Given the description of an element on the screen output the (x, y) to click on. 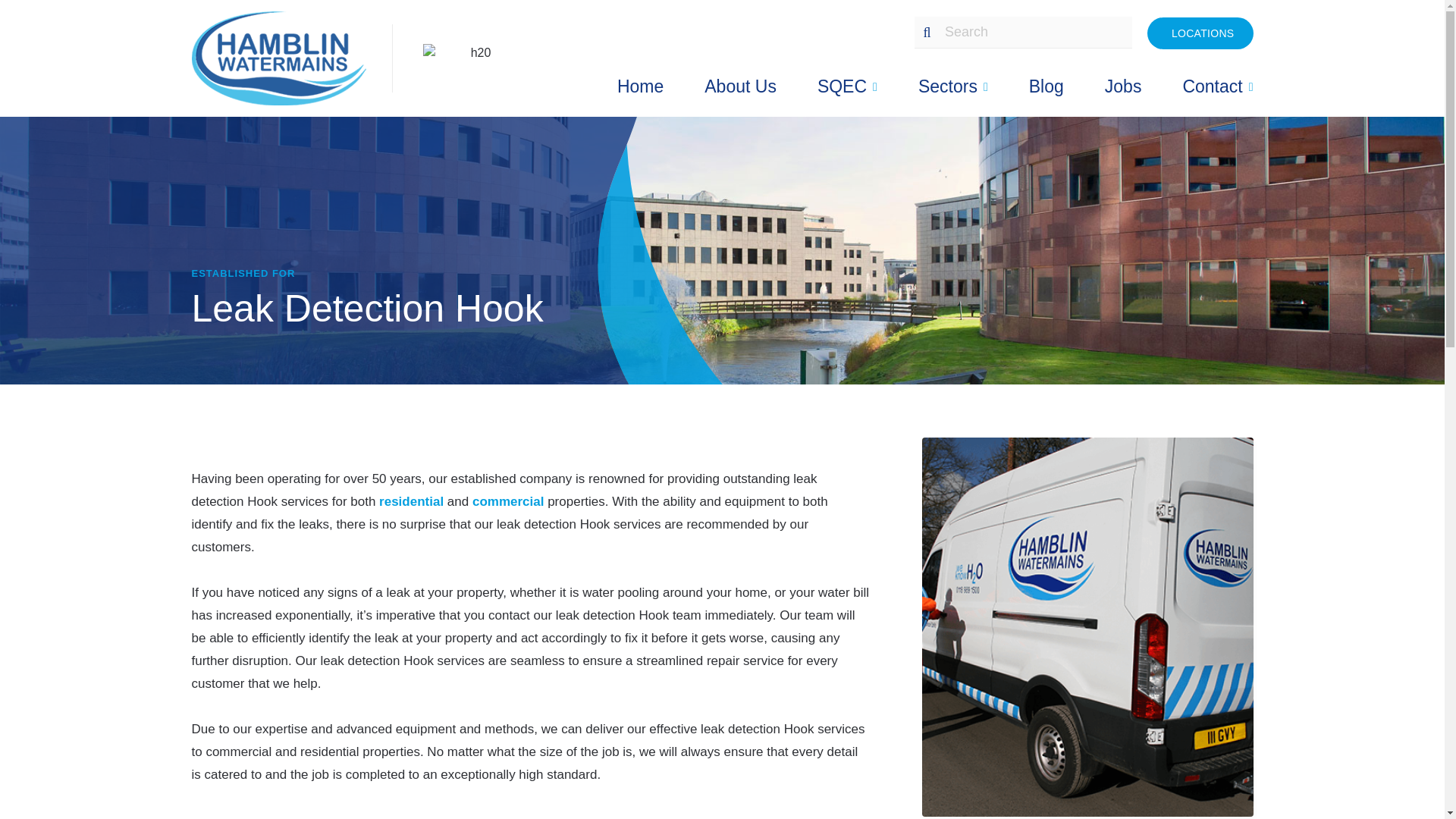
Sectors (953, 86)
Contact (1217, 86)
commercial (507, 501)
LOCATIONS (1200, 32)
Adeco Excel LLP (290, 58)
residential (411, 501)
SQEC (846, 86)
About Us (740, 86)
